Given the description of an element on the screen output the (x, y) to click on. 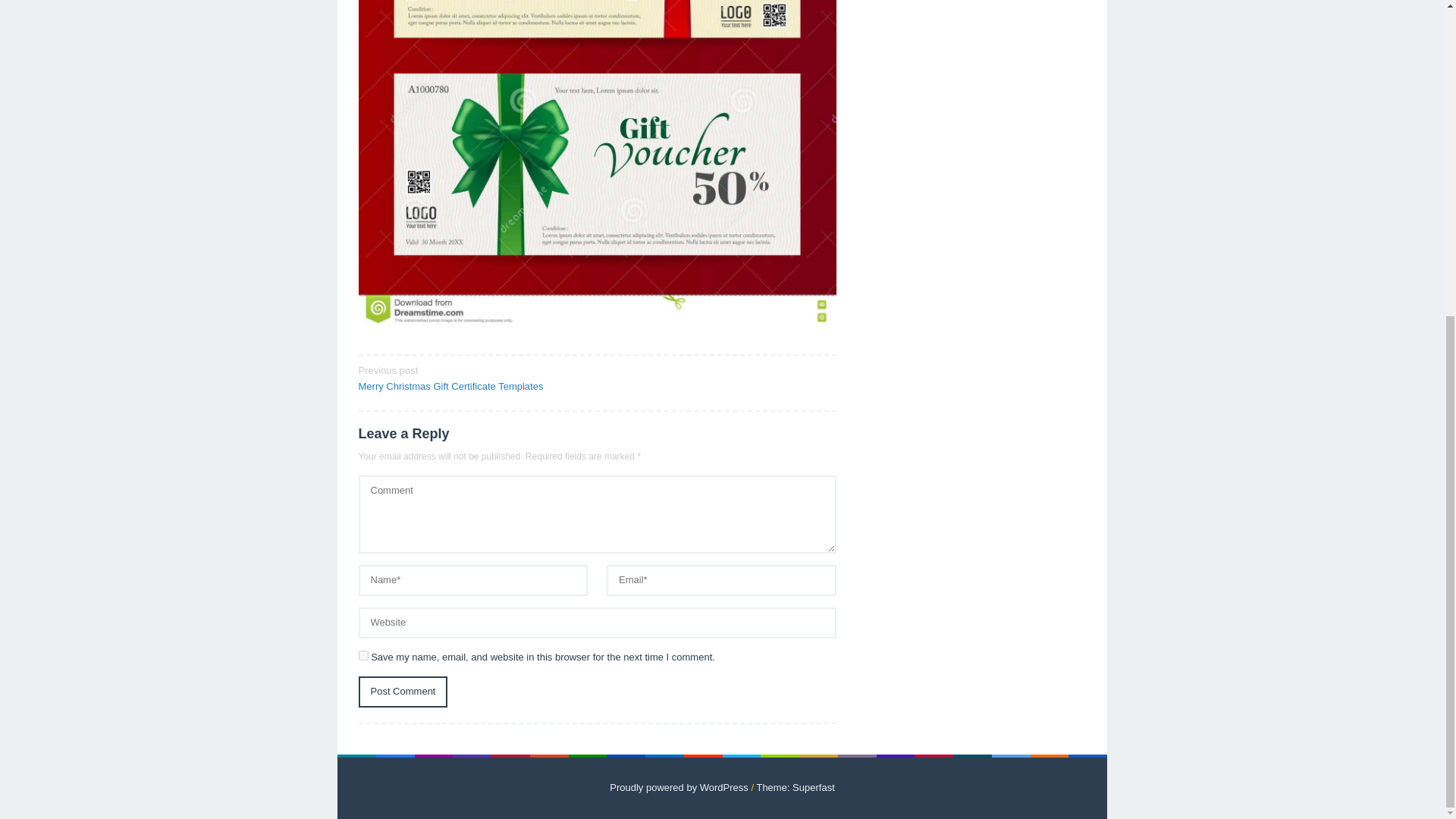
Proudly powered by WordPress (679, 787)
yes (363, 655)
Post Comment (402, 691)
Proudly powered by WordPress (679, 787)
Theme: Superfast (794, 787)
Theme: Superfast (794, 787)
Post Comment (402, 691)
